Given the description of an element on the screen output the (x, y) to click on. 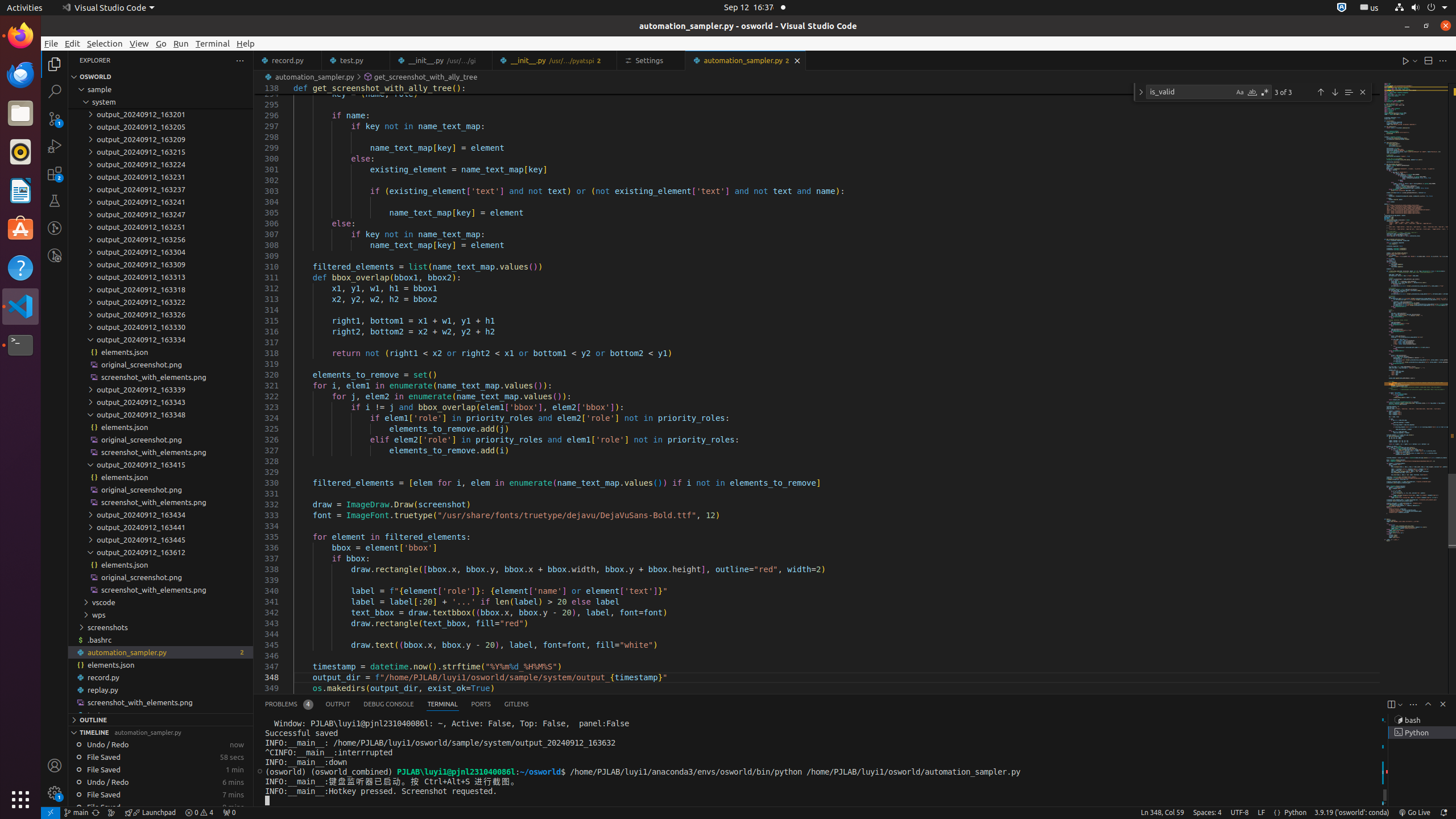
Search (Ctrl+Shift+F) Element type: page-tab (54, 91)
Show the GitLens Commit Graph Element type: push-button (111, 812)
Active View Switcher Element type: page-tab-list (396, 704)
output_20240912_163237 Element type: tree-item (160, 189)
